Given the description of an element on the screen output the (x, y) to click on. 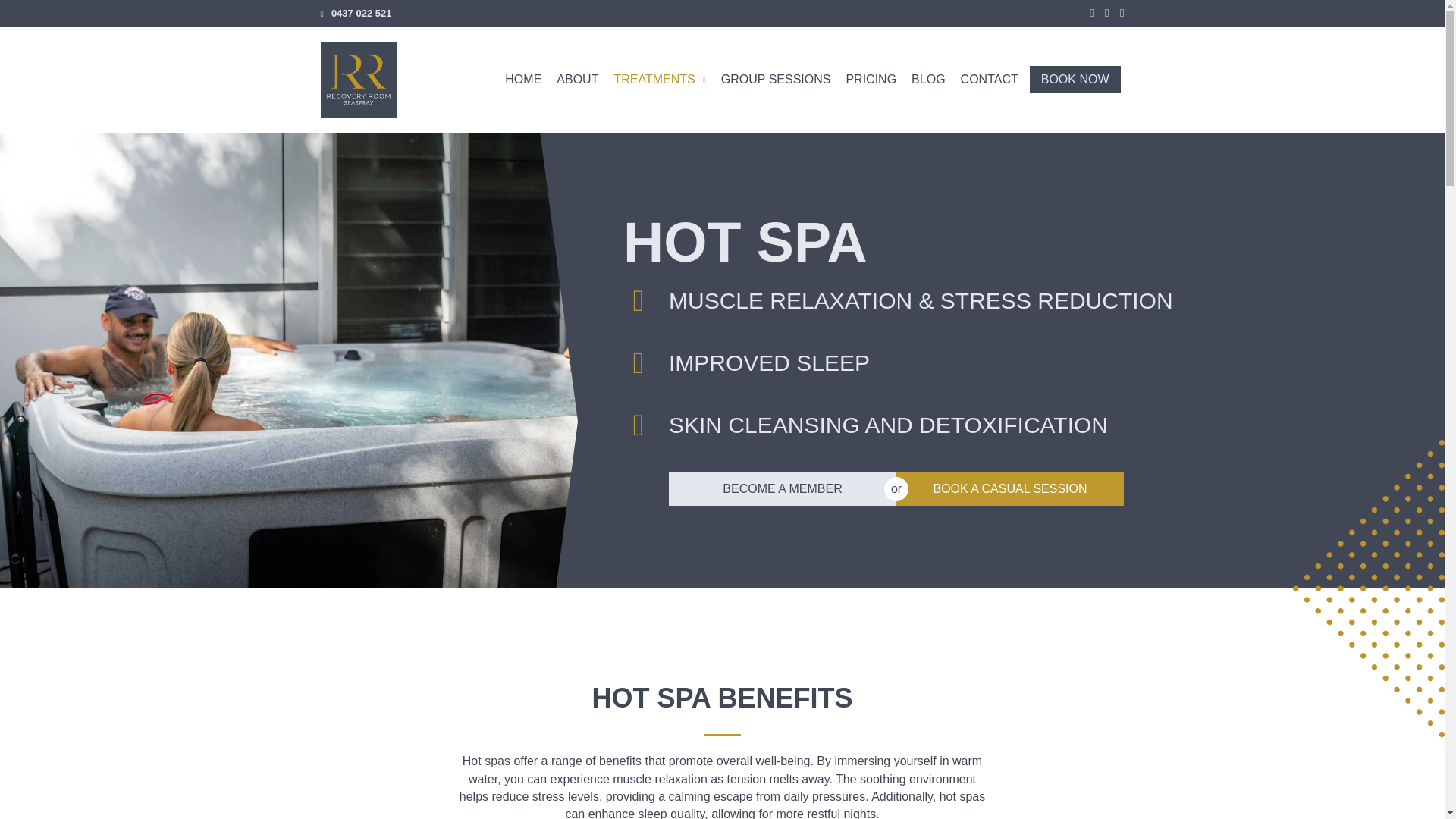
BOOK NOW (1074, 79)
0437 022 521 (361, 13)
PRICING (870, 79)
ABOUT (577, 69)
GROUP SESSIONS (775, 79)
Recovery-Room-Seaspray-Logo-Blue (358, 79)
HOME (522, 67)
TREATMENTS (659, 71)
BLOG (928, 79)
CONTACT (989, 79)
